Given the description of an element on the screen output the (x, y) to click on. 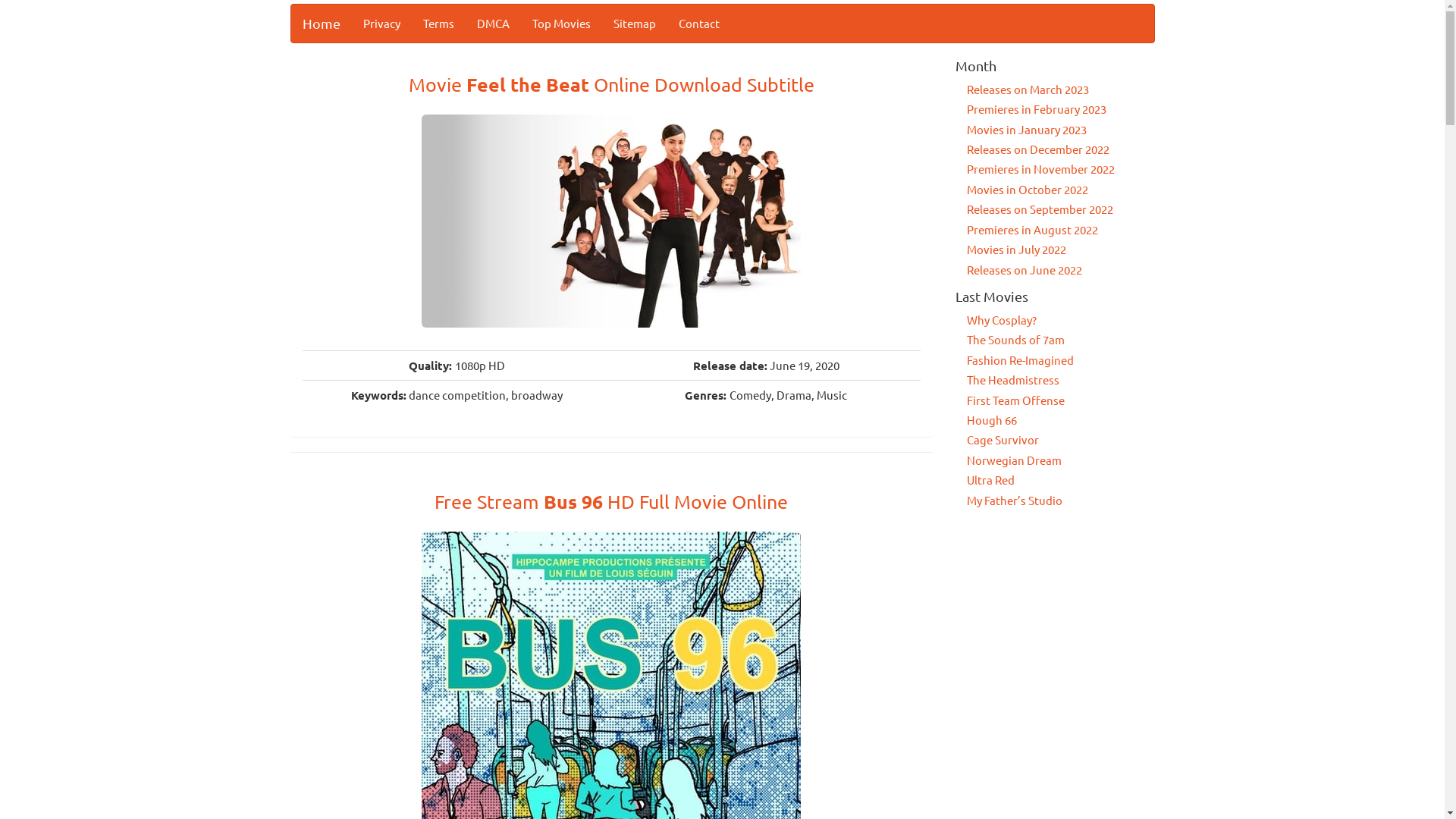
Movies in October 2022 Element type: text (1027, 189)
Movies in July 2022 Element type: text (1016, 248)
Free Stream Bus 96 HD Full Movie Online Element type: text (610, 501)
Premieres in August 2022 Element type: text (1032, 229)
The Headmistress Element type: text (1012, 379)
Movies in January 2023 Element type: text (1026, 129)
Releases on December 2022 Element type: text (1037, 148)
Releases on June 2022 Element type: text (1024, 269)
Contact Element type: text (699, 23)
Privacy Element type: text (381, 23)
Fashion Re-Imagined Element type: text (1019, 359)
Movie Feel the Beat Online Download Subtitle Element type: text (611, 84)
Ultra Red Element type: text (990, 479)
Norwegian Dream Element type: text (1013, 459)
Hough 66 Element type: text (991, 419)
First Team Offense Element type: text (1015, 399)
DMCA Element type: text (492, 23)
Terms Element type: text (437, 23)
Premieres in February 2023 Element type: text (1036, 108)
Releases on September 2022 Element type: text (1039, 208)
Feel the Beat Element type: hover (610, 219)
Premieres in November 2022 Element type: text (1040, 168)
The Sounds of 7am Element type: text (1015, 339)
Releases on March 2023 Element type: text (1027, 88)
Sitemap Element type: text (634, 23)
Top Movies Element type: text (560, 23)
Cage Survivor Element type: text (1002, 439)
Why Cosplay? Element type: text (1001, 319)
Home Element type: text (321, 23)
